Given the description of an element on the screen output the (x, y) to click on. 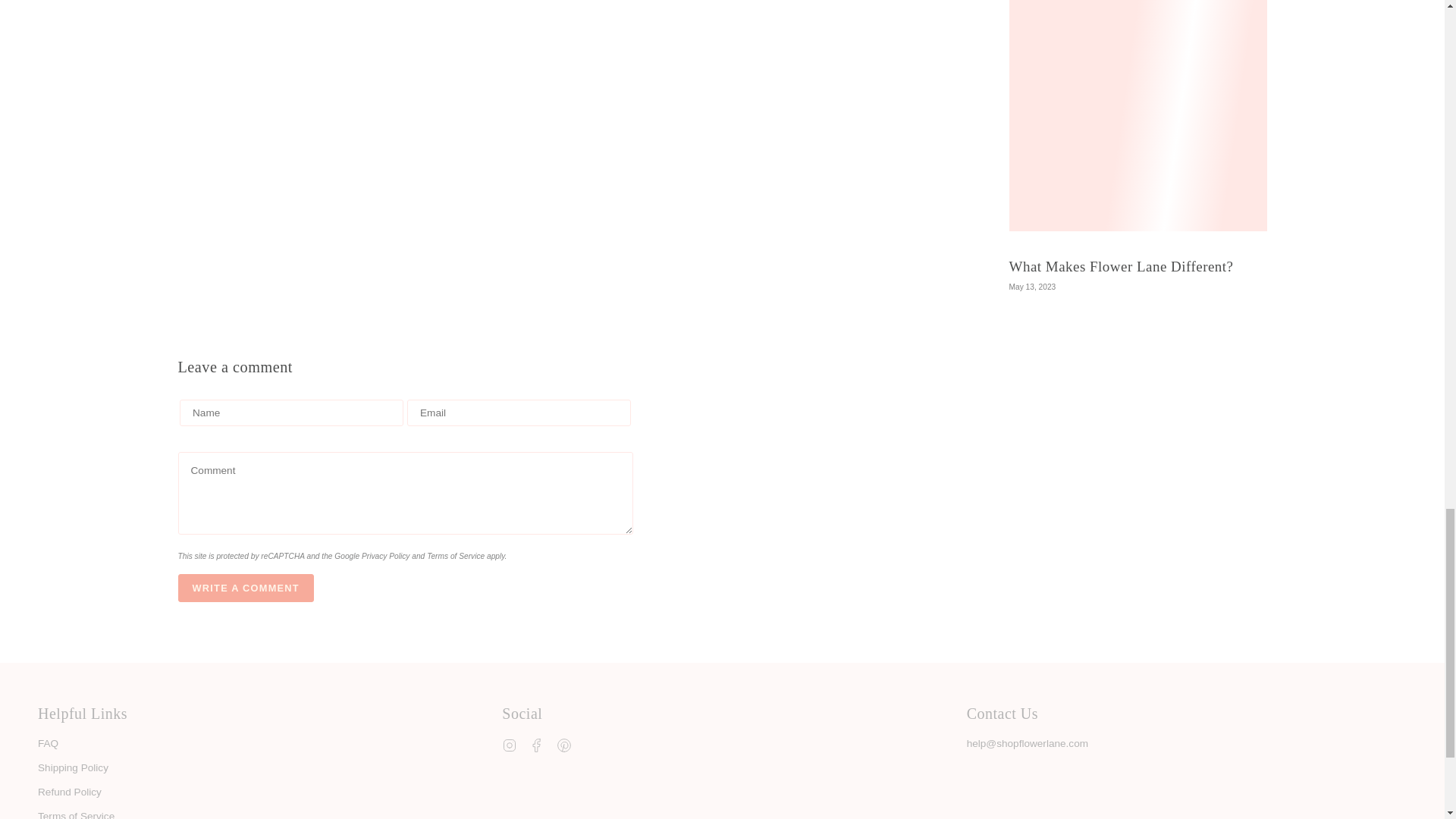
What Makes Flower Lane Different? (1121, 266)
Flower Lane  on Instagram (509, 745)
Flower Lane  on Pinterest (564, 745)
Flower Lane  on Facebook (536, 745)
Write a comment (245, 587)
